Given the description of an element on the screen output the (x, y) to click on. 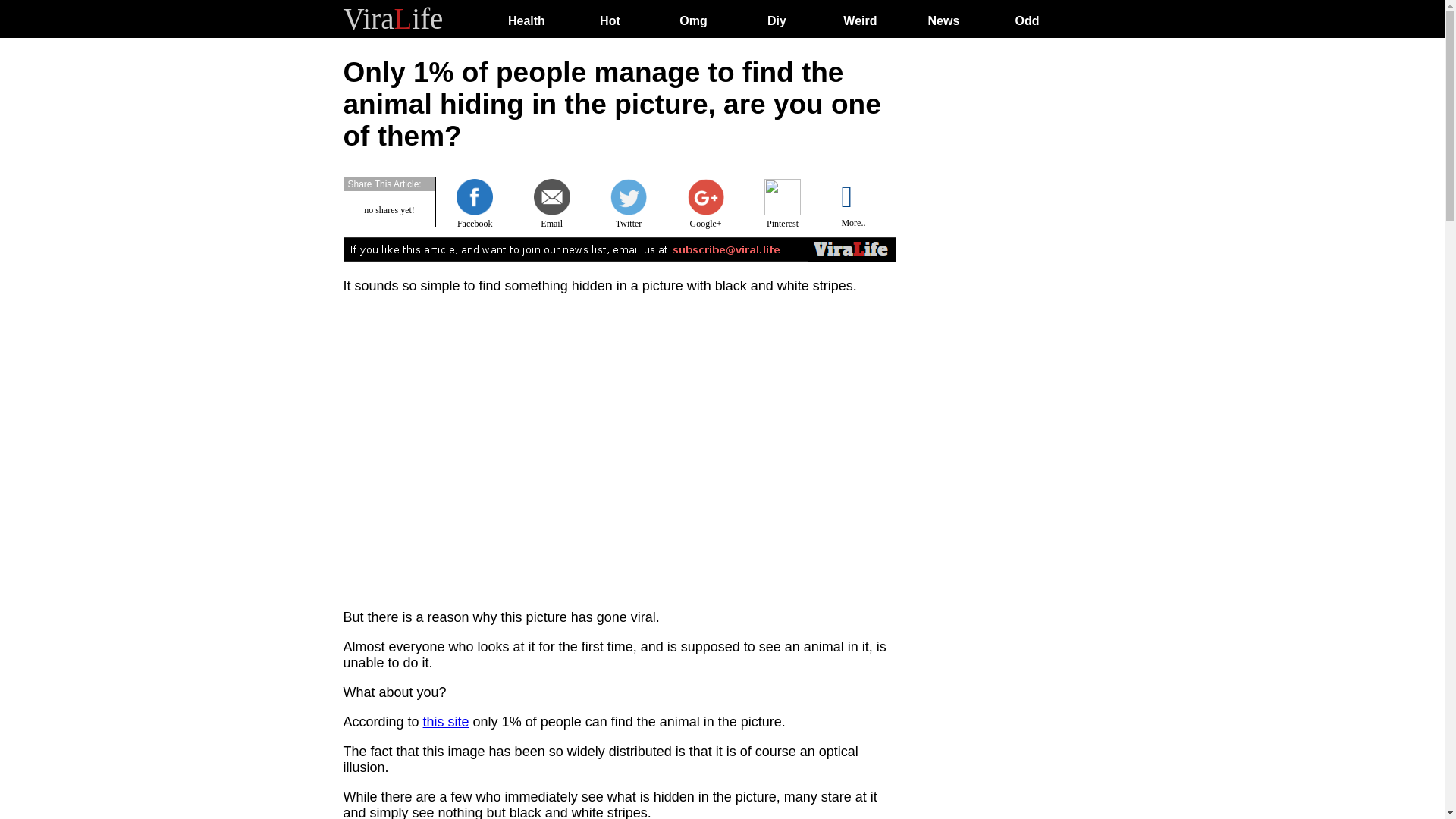
Email (552, 218)
News (943, 20)
Hot (609, 20)
ViraLife (392, 18)
Omg (692, 20)
this site (445, 721)
Odd (1026, 20)
Diy (776, 20)
Health (526, 20)
Weird (859, 20)
